Given the description of an element on the screen output the (x, y) to click on. 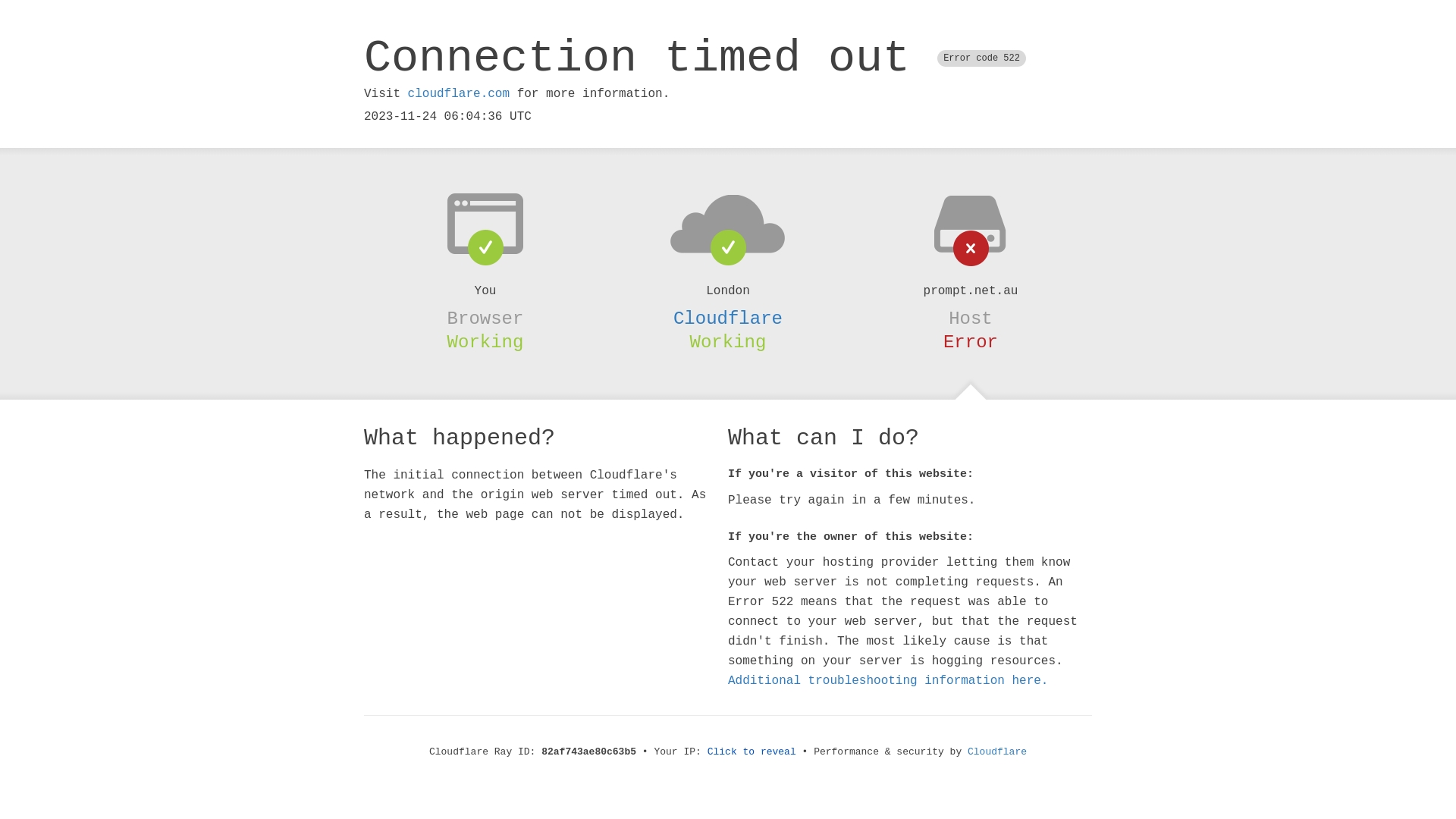
Click to reveal Element type: text (751, 751)
cloudflare.com Element type: text (458, 93)
Additional troubleshooting information here. Element type: text (888, 680)
Cloudflare Element type: text (996, 751)
Cloudflare Element type: text (727, 318)
